Given the description of an element on the screen output the (x, y) to click on. 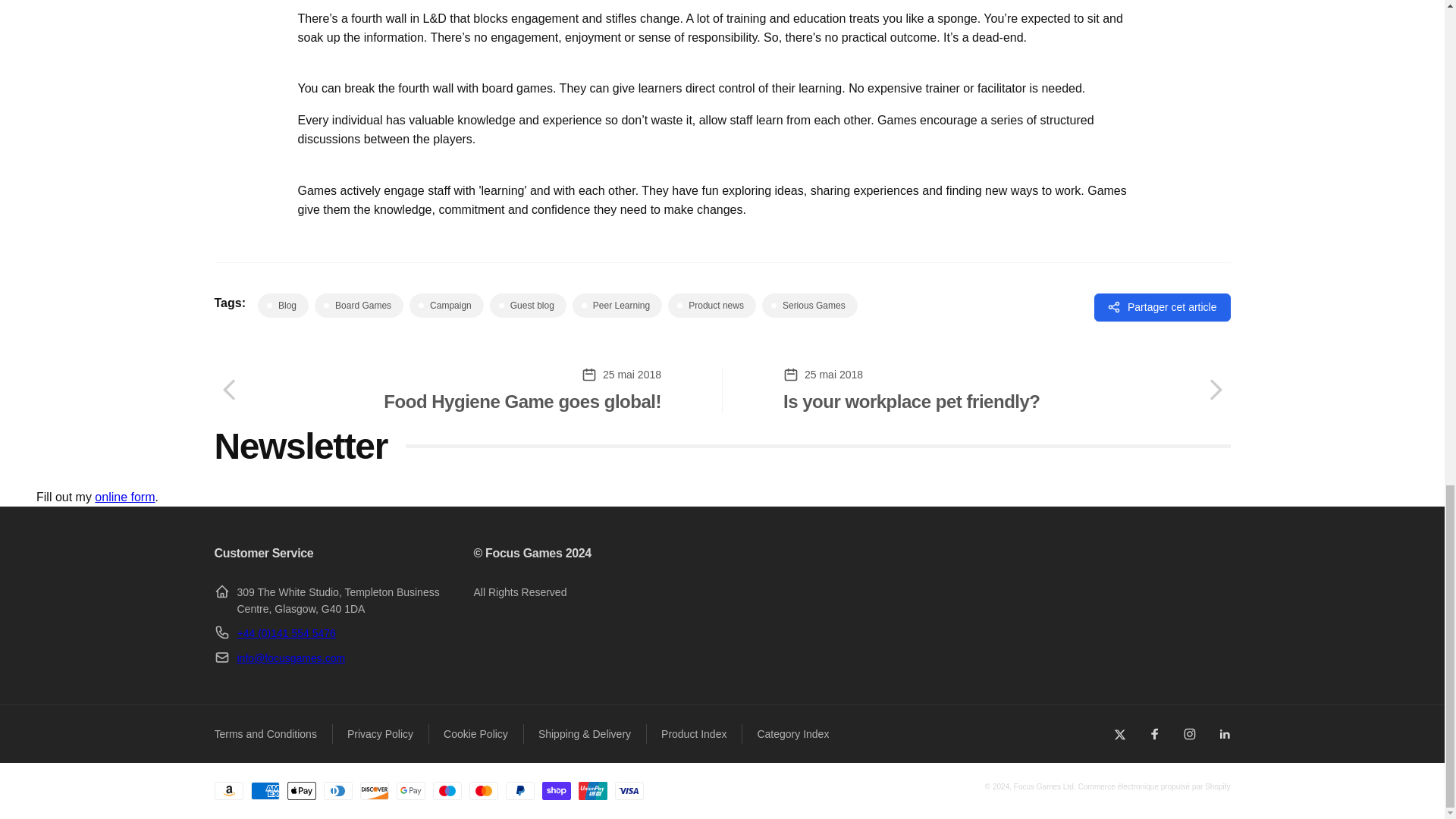
Is your workplace pet friendly? (1006, 389)
Food Hygiene Game goes global! (437, 389)
tel:441415545476 (284, 633)
